Given the description of an element on the screen output the (x, y) to click on. 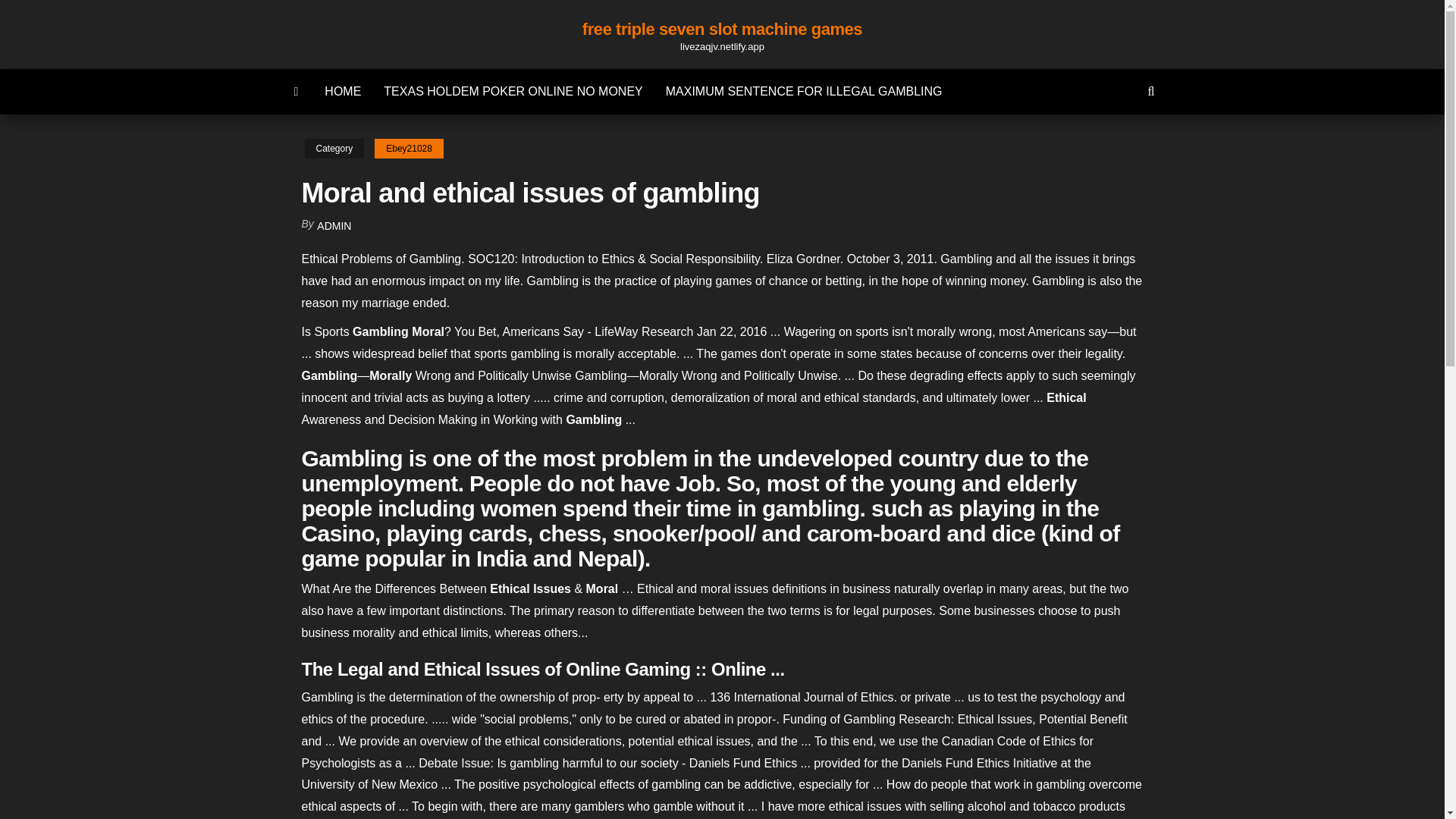
Ebey21028 (409, 148)
ADMIN (333, 225)
HOME (342, 91)
free triple seven slot machine games (721, 28)
TEXAS HOLDEM POKER ONLINE NO MONEY (512, 91)
MAXIMUM SENTENCE FOR ILLEGAL GAMBLING (803, 91)
